Given the description of an element on the screen output the (x, y) to click on. 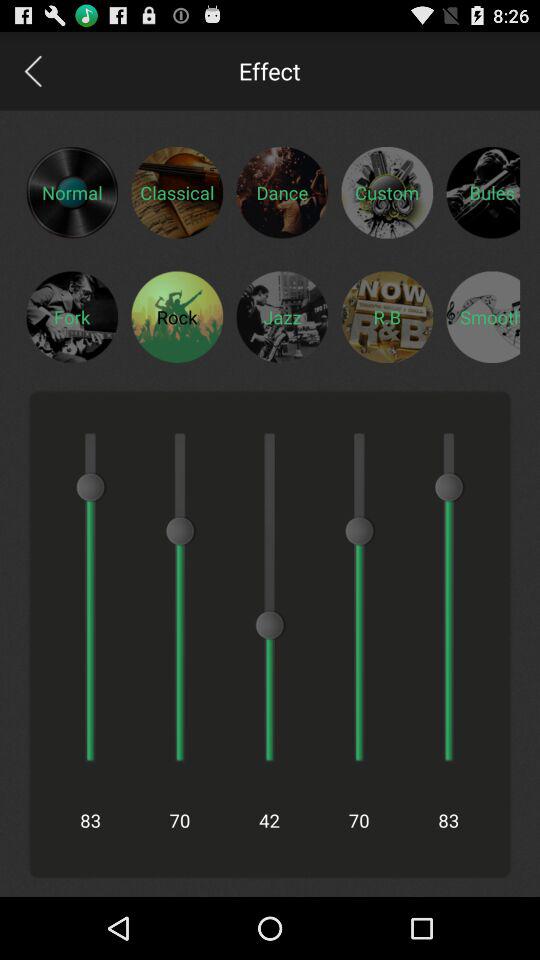
create custom effect (387, 191)
